Given the description of an element on the screen output the (x, y) to click on. 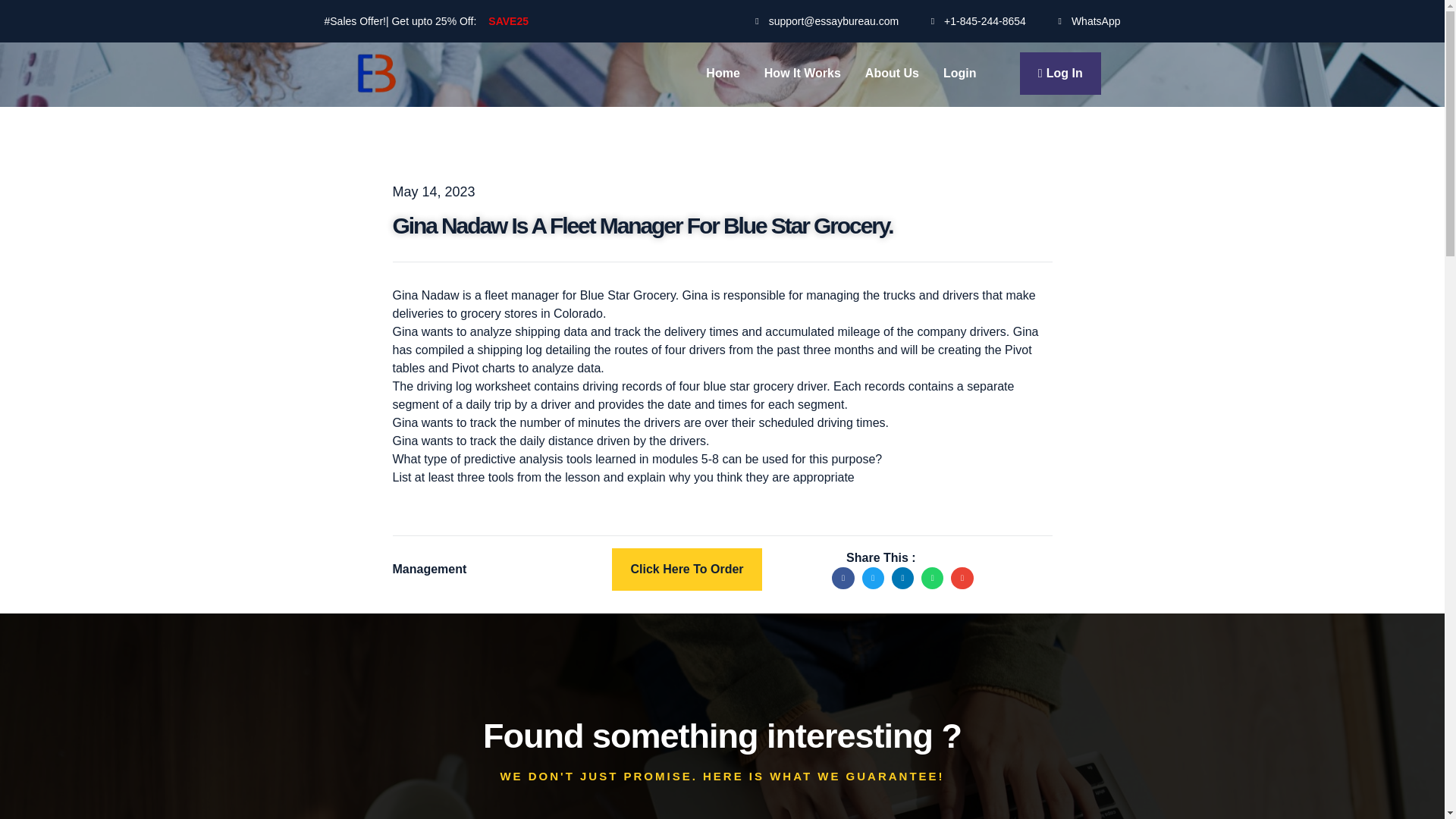
About Us (891, 73)
Homepage (722, 73)
How It Works (802, 73)
WhatsApp (1085, 21)
WE DON'T JUST PROMISE. HERE IS WHAT WE GUARANTEE! (721, 775)
Log In (1060, 73)
Gina Nadaw Is A Fleet Manager For Blue Star Grocery. (643, 224)
SAVE25 (507, 21)
Management (430, 568)
Home (722, 73)
Click Here To Order (686, 568)
Login (959, 73)
